Given the description of an element on the screen output the (x, y) to click on. 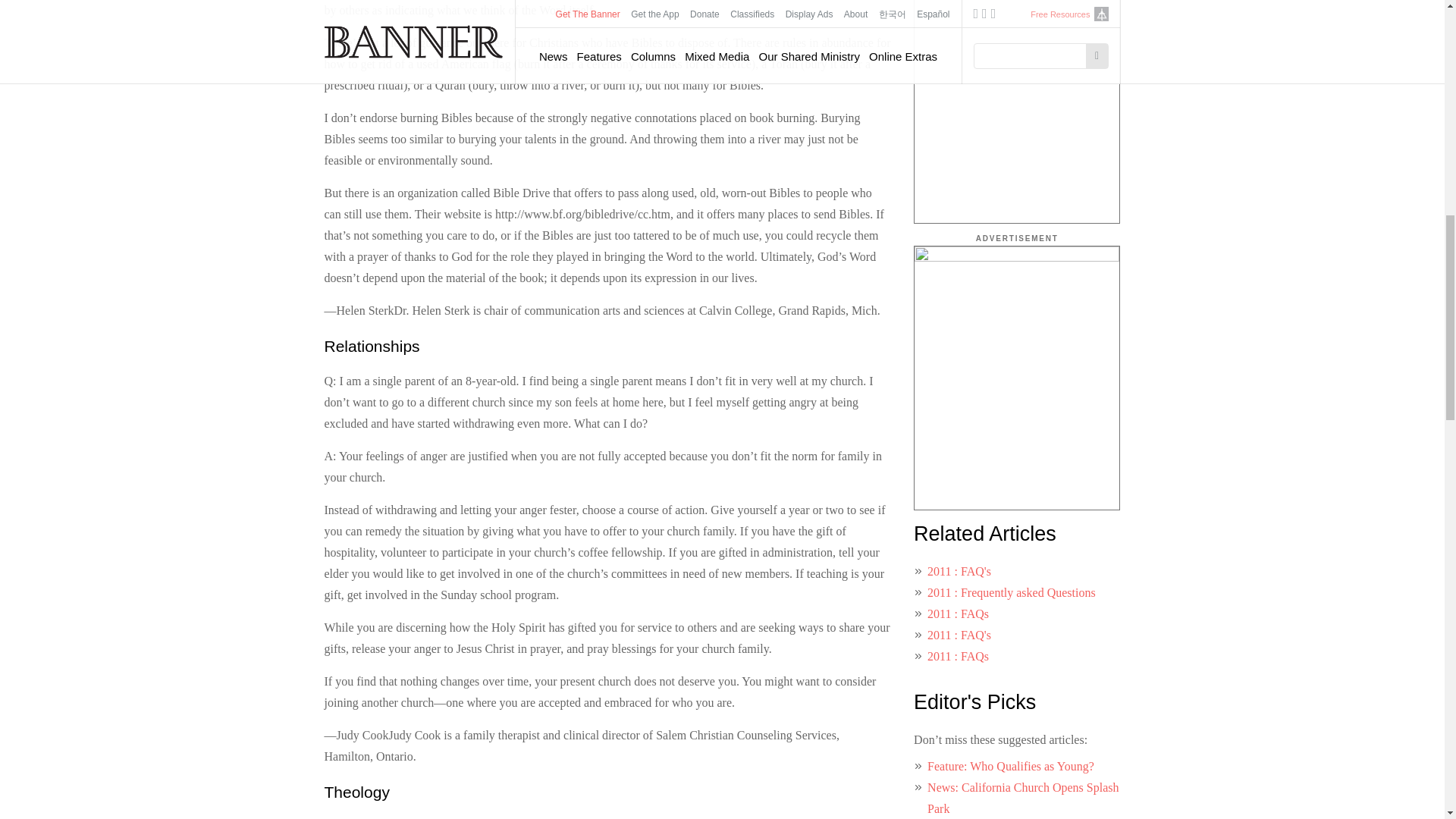
Feature: Who Qualifies as Young? (1010, 766)
2011 : FAQ's (959, 634)
News: California Church Opens Splash Park (1022, 797)
2011 : FAQs (957, 613)
2011 : Frequently asked Questions (1011, 592)
2011 : FAQ's (959, 571)
2011 : FAQs (957, 656)
